Given the description of an element on the screen output the (x, y) to click on. 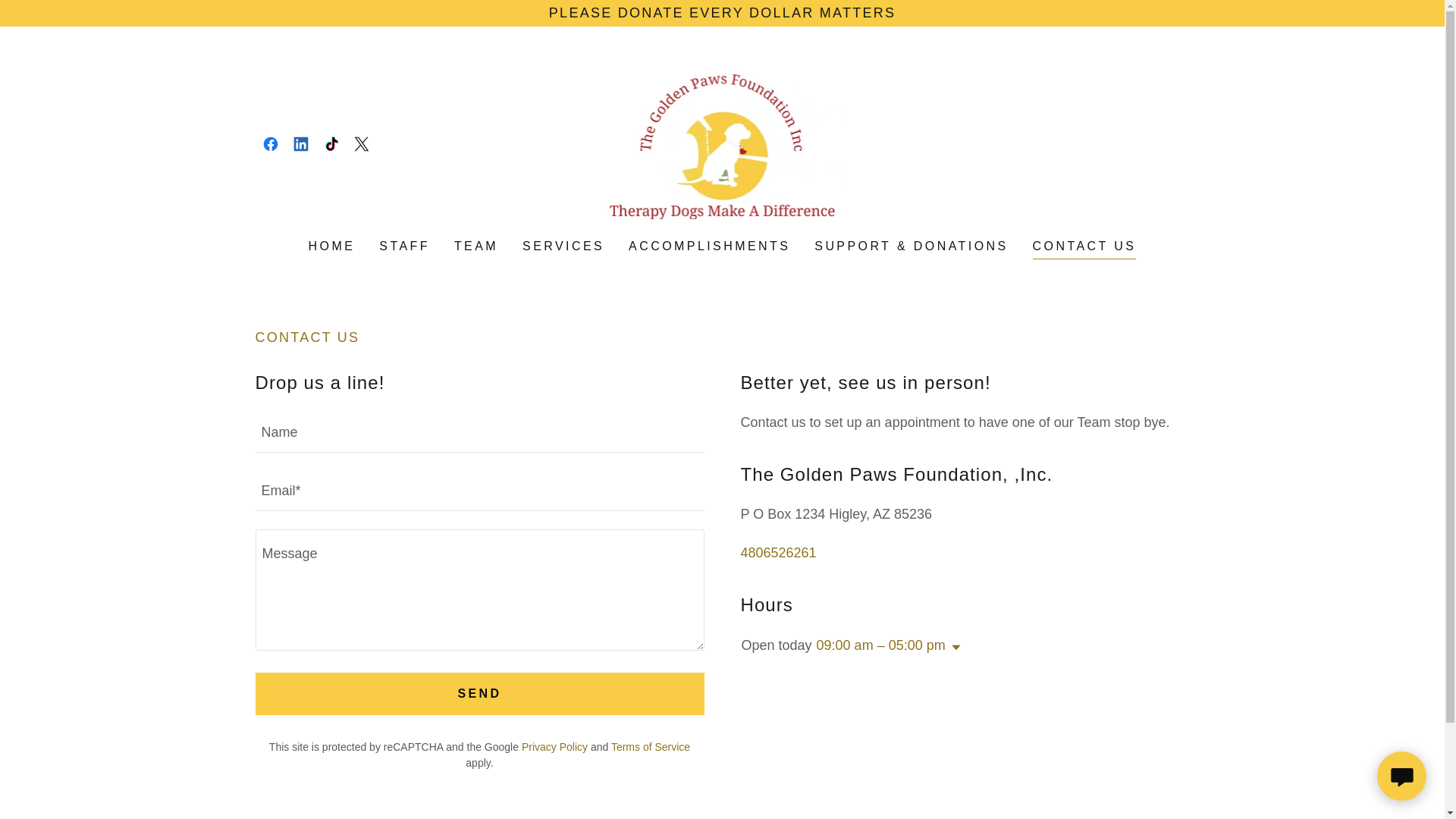
CONTACT US (1084, 248)
STAFF (403, 246)
HOME (331, 246)
ACCOMPLISHMENTS (709, 246)
The Golden Paws Foundation, Inc. (722, 142)
SEND (478, 693)
TEAM (475, 246)
SERVICES (563, 246)
4806526261 (777, 552)
Terms of Service (650, 746)
Privacy Policy (554, 746)
